Given the description of an element on the screen output the (x, y) to click on. 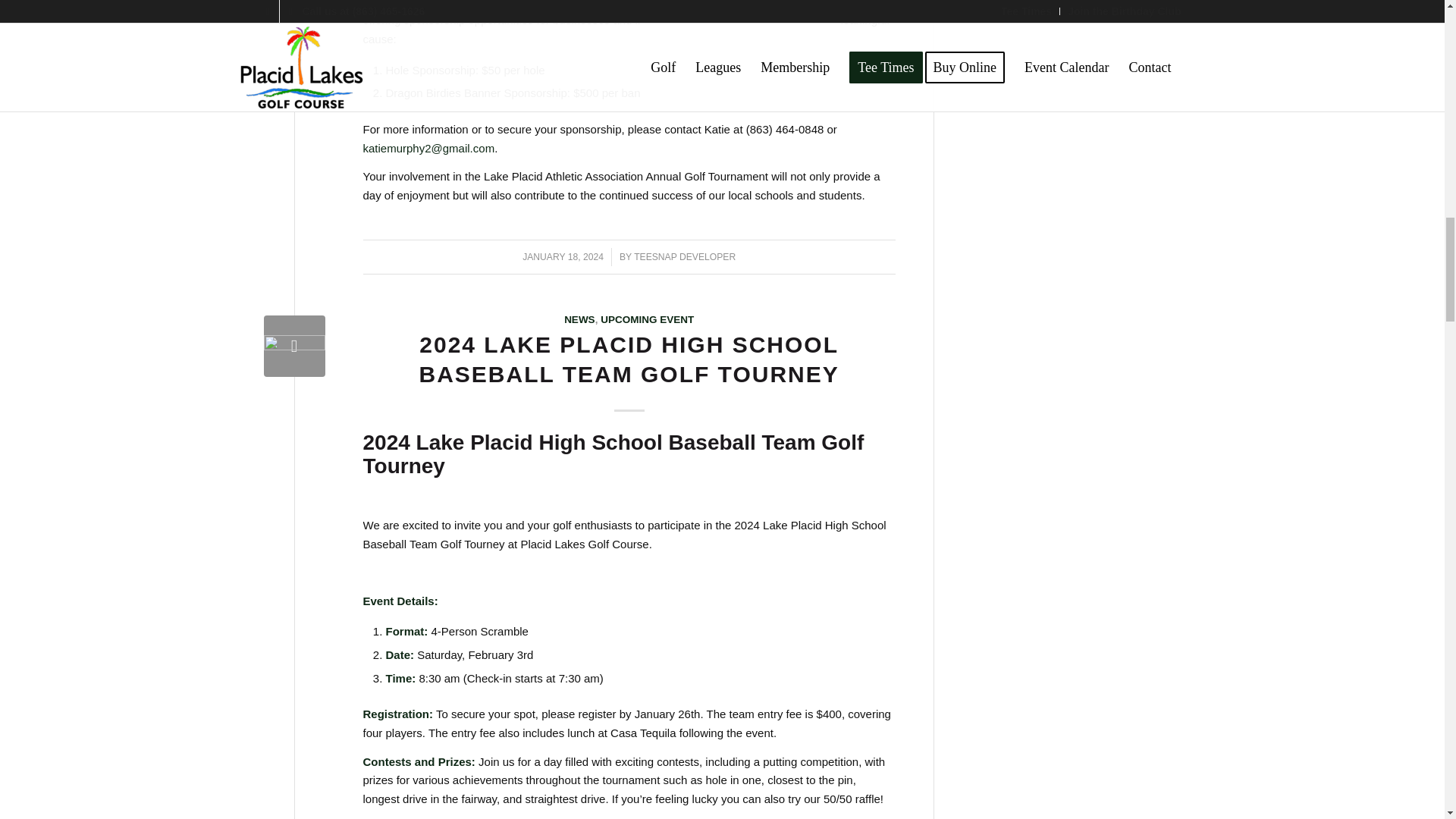
UPCOMING EVENT (646, 319)
TEESNAP DEVELOPER (684, 256)
Posts by Teesnap Developer (684, 256)
2024 LAKE PLACID HIGH SCHOOL BASEBALL TEAM GOLF TOURNEY (629, 359)
NEWS (579, 319)
